Given the description of an element on the screen output the (x, y) to click on. 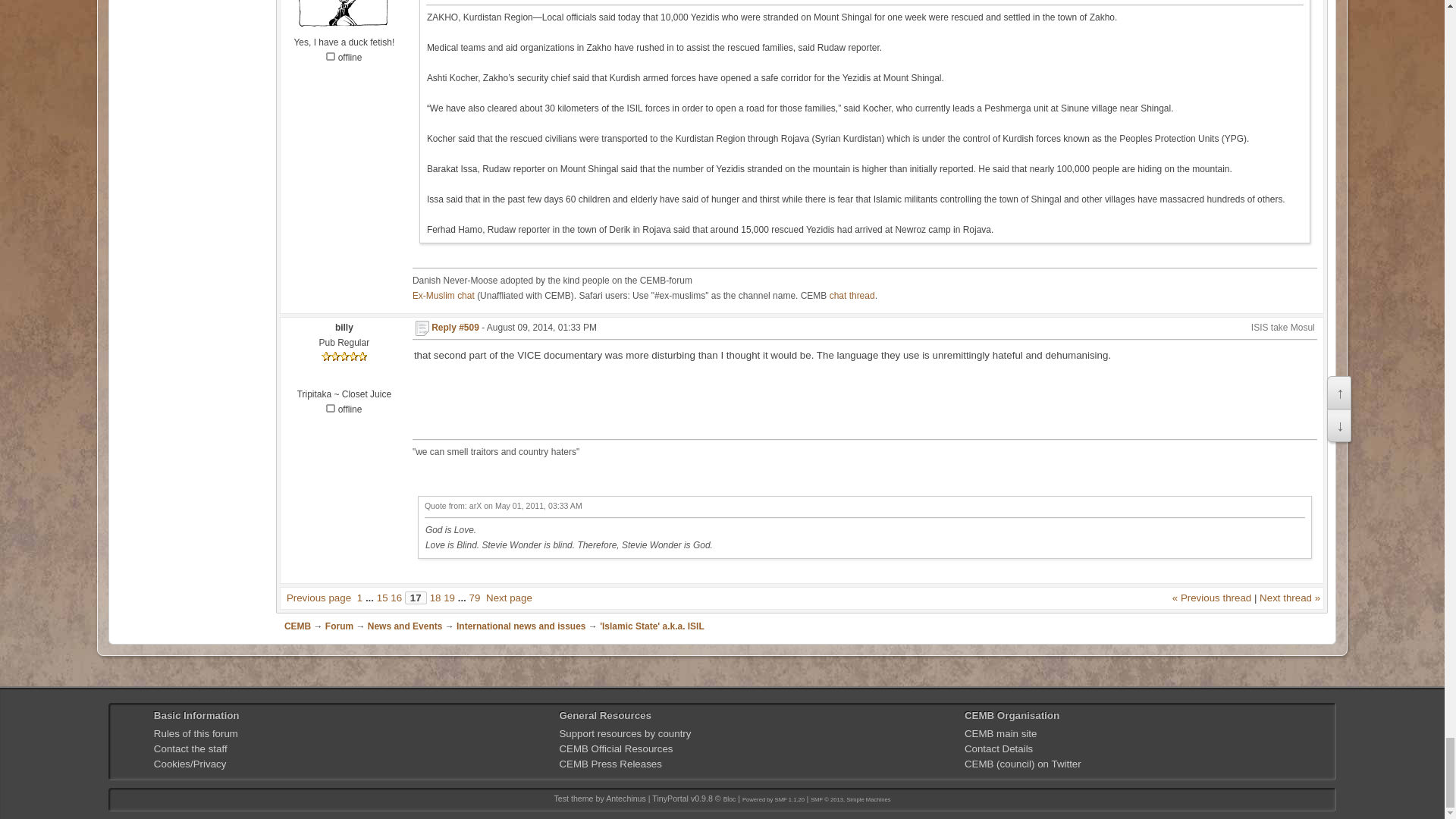
Simple Machines Forum (773, 799)
Free Forum Software (850, 799)
